Given the description of an element on the screen output the (x, y) to click on. 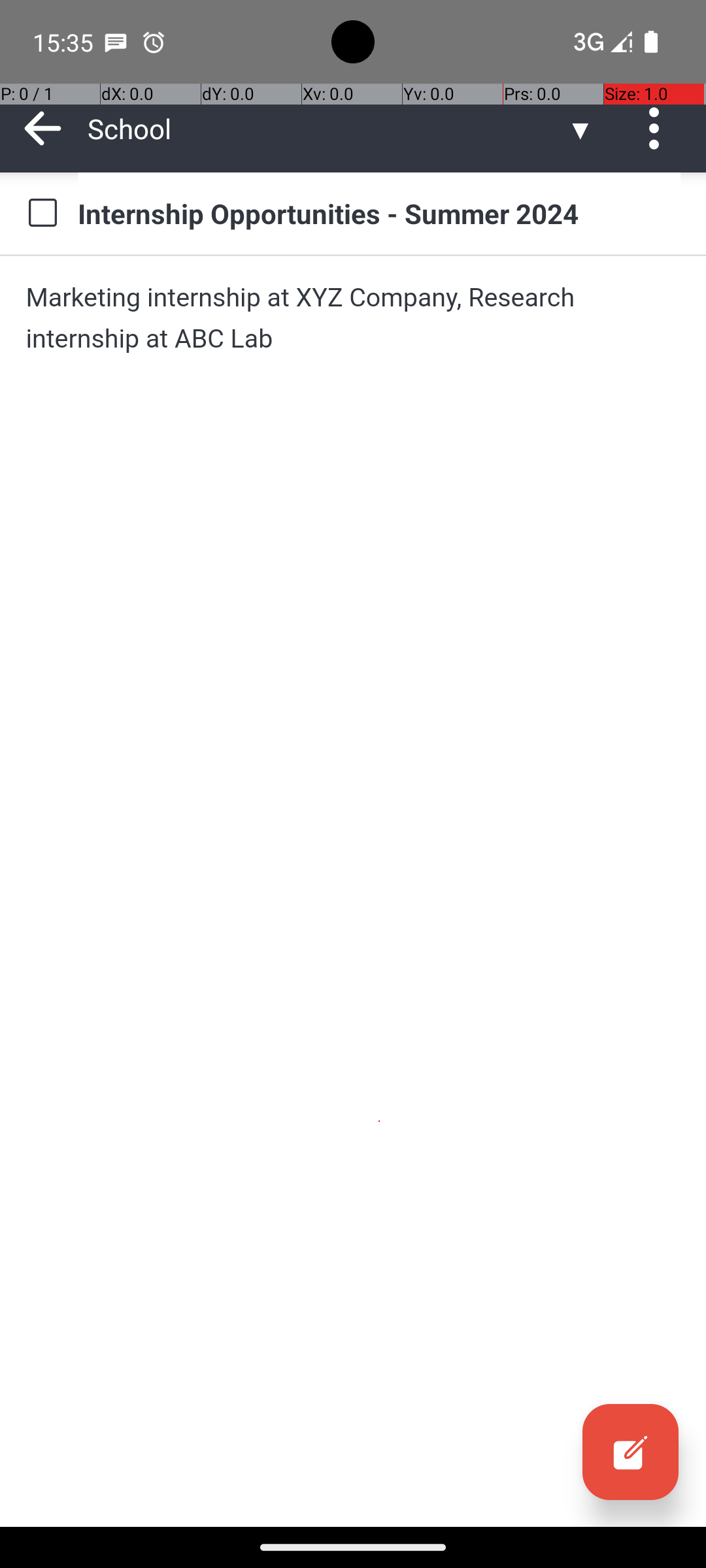
Marketing internship at XYZ Company, Research internship at ABC Lab Element type: android.widget.TextView (352, 317)
